Given the description of an element on the screen output the (x, y) to click on. 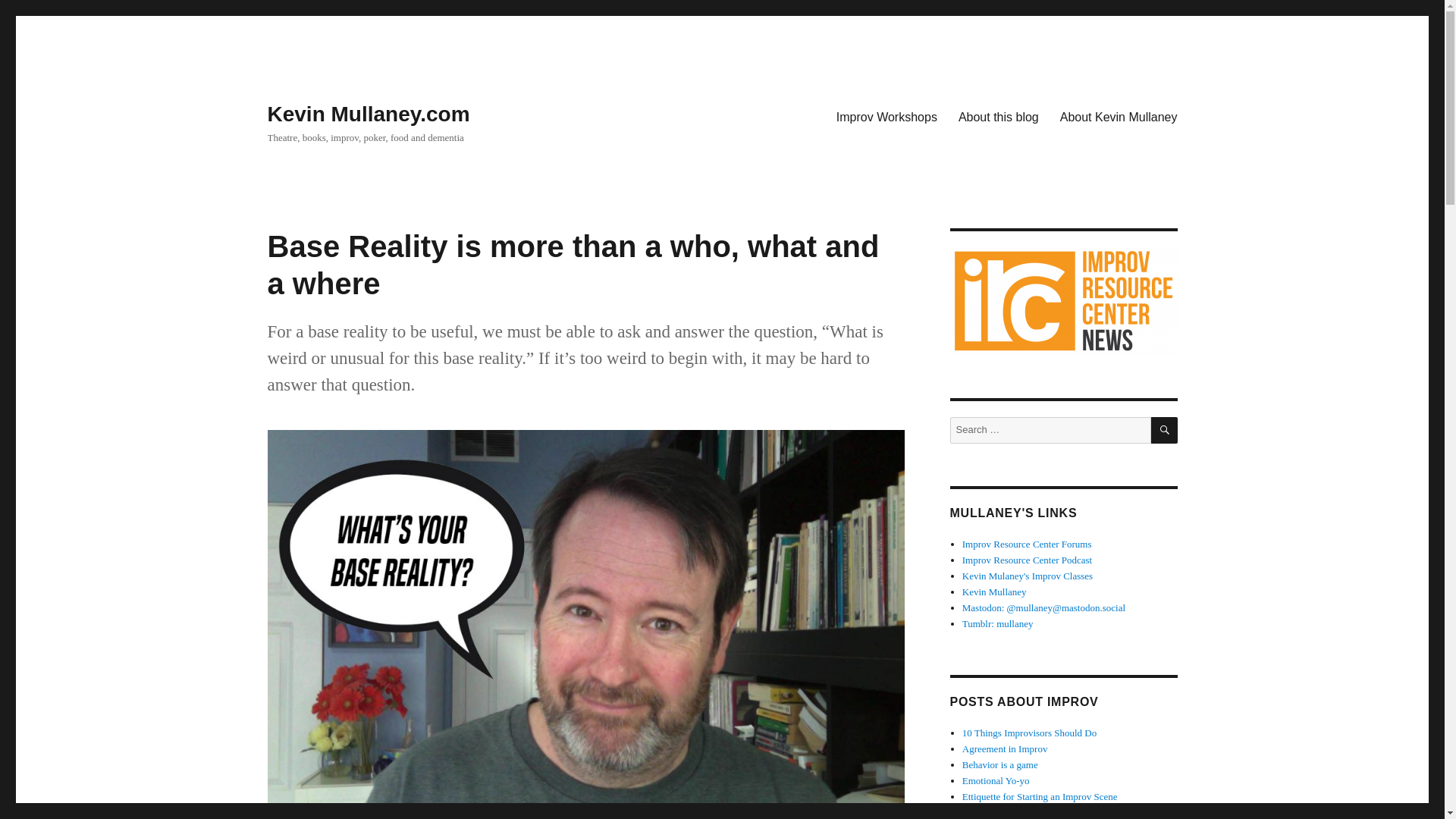
10 Things Improvisors Should Do (1029, 732)
Kevin Mullaney (994, 591)
A short bio of Kevin Mullaney (994, 591)
Improv Workshops (886, 116)
Exercises and techniques used by long form improvisors (1027, 559)
Improv Resource Center Forums (1027, 543)
Ettiquette for Starting an Improv Scene (1040, 796)
Game of the Scene: An Example (1026, 812)
Kevin Mullaney.com (367, 114)
Agreement in Improv (1005, 748)
